Given the description of an element on the screen output the (x, y) to click on. 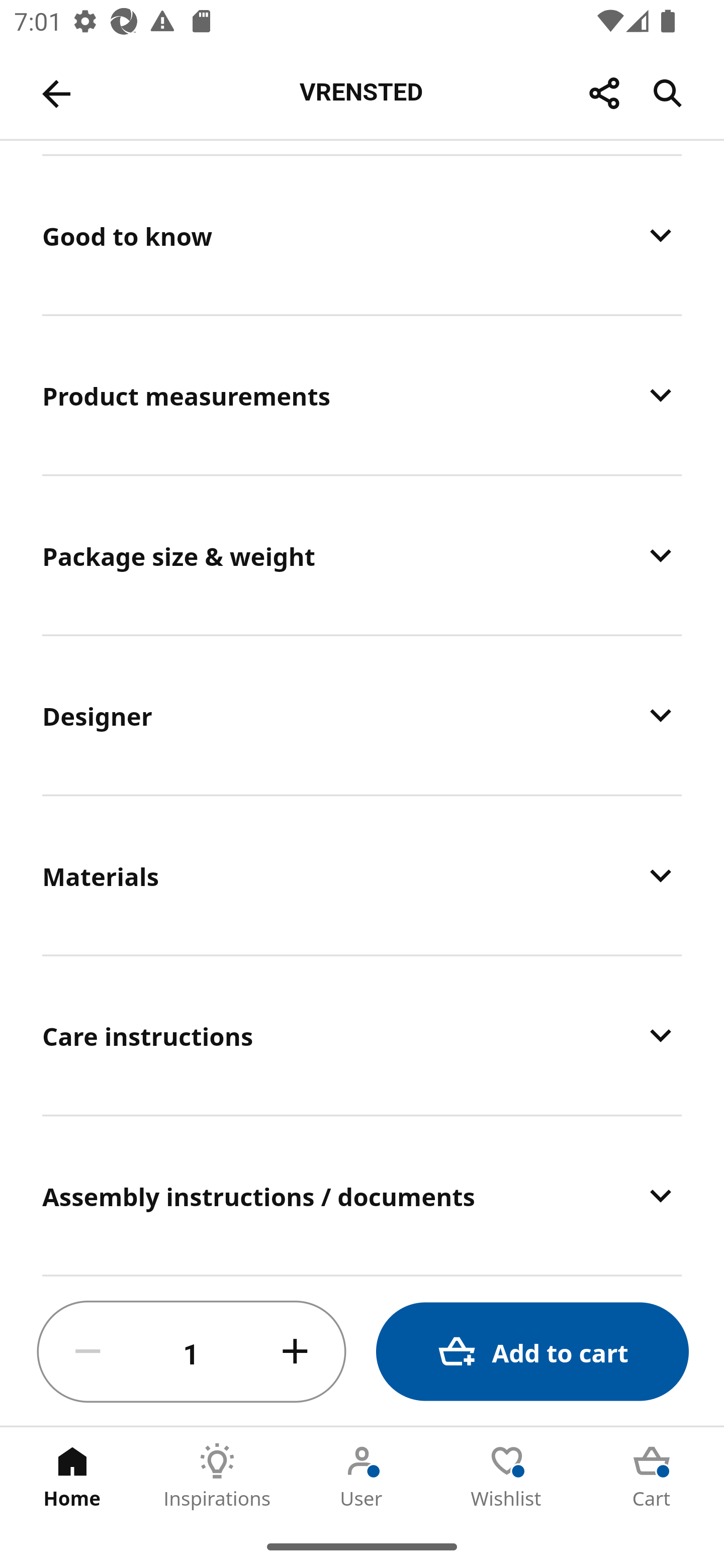
Good to know (361, 235)
Product measurements (361, 394)
Package size & weight (361, 555)
Designer (361, 714)
Materials (361, 875)
Care instructions (361, 1035)
Assembly instructions / documents (361, 1195)
Add to cart (531, 1352)
1 (191, 1352)
Home
Tab 1 of 5 (72, 1476)
Inspirations
Tab 2 of 5 (216, 1476)
User
Tab 3 of 5 (361, 1476)
Wishlist
Tab 4 of 5 (506, 1476)
Cart
Tab 5 of 5 (651, 1476)
